Given the description of an element on the screen output the (x, y) to click on. 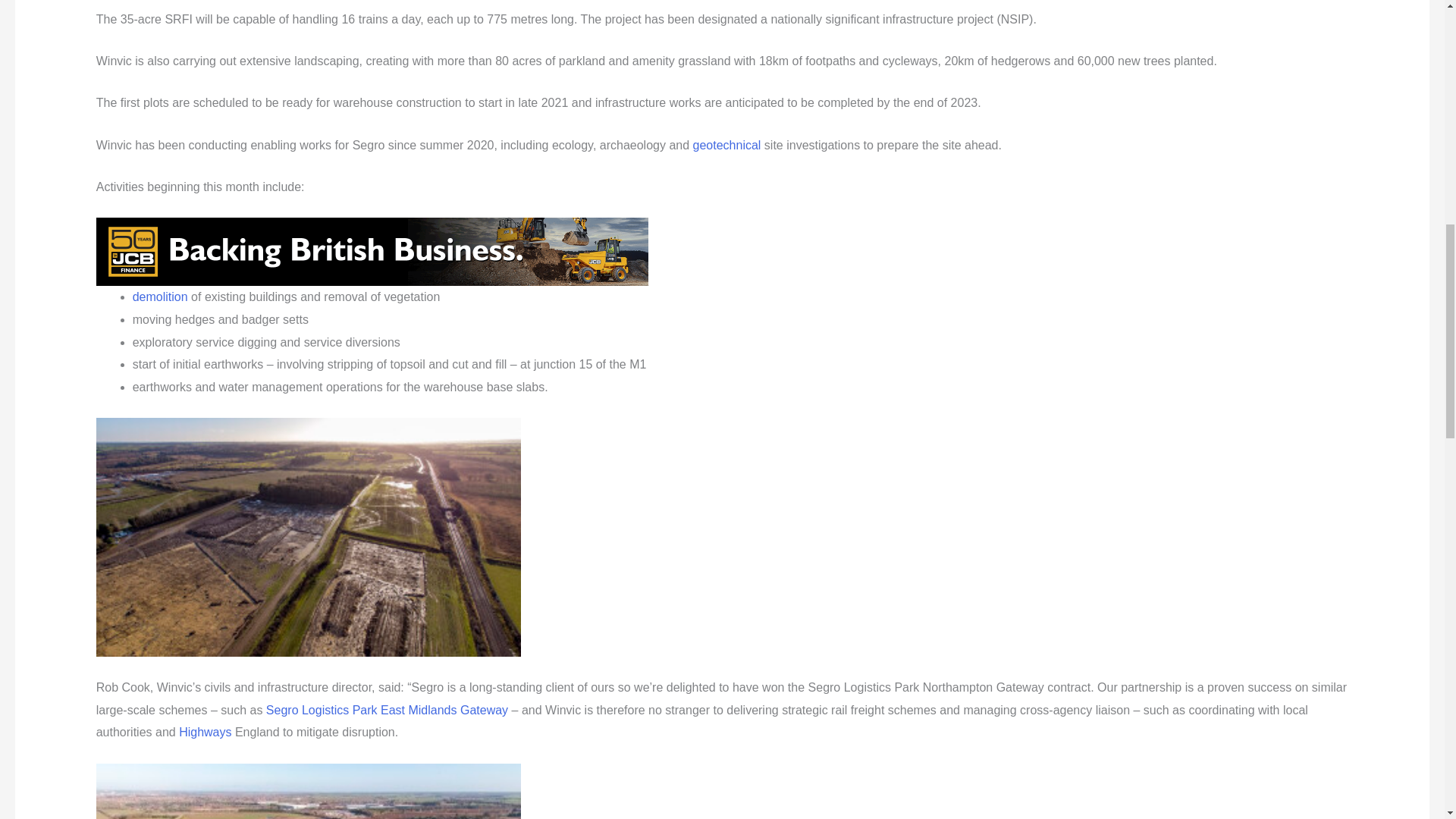
Highways (205, 731)
Search for suppliers of Demolition (159, 296)
Search for suppliers of Highways (205, 731)
Segro Logistics Park East Midlands Gateway (387, 709)
Search for suppliers of Geotechnical (727, 144)
demolition (159, 296)
Related Information (371, 250)
geotechnical (727, 144)
